Given the description of an element on the screen output the (x, y) to click on. 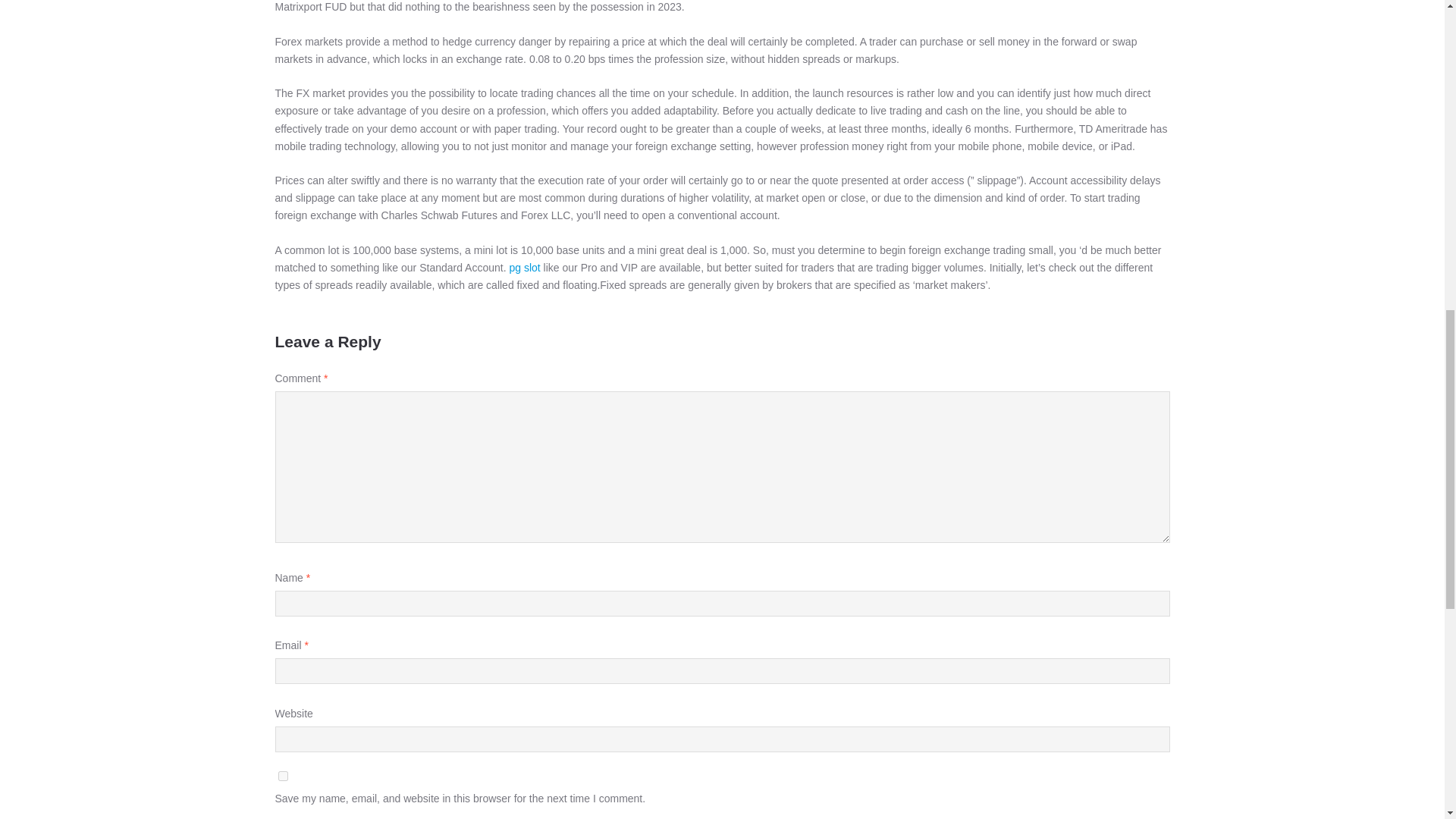
yes (282, 776)
pg slot (524, 267)
